Given the description of an element on the screen output the (x, y) to click on. 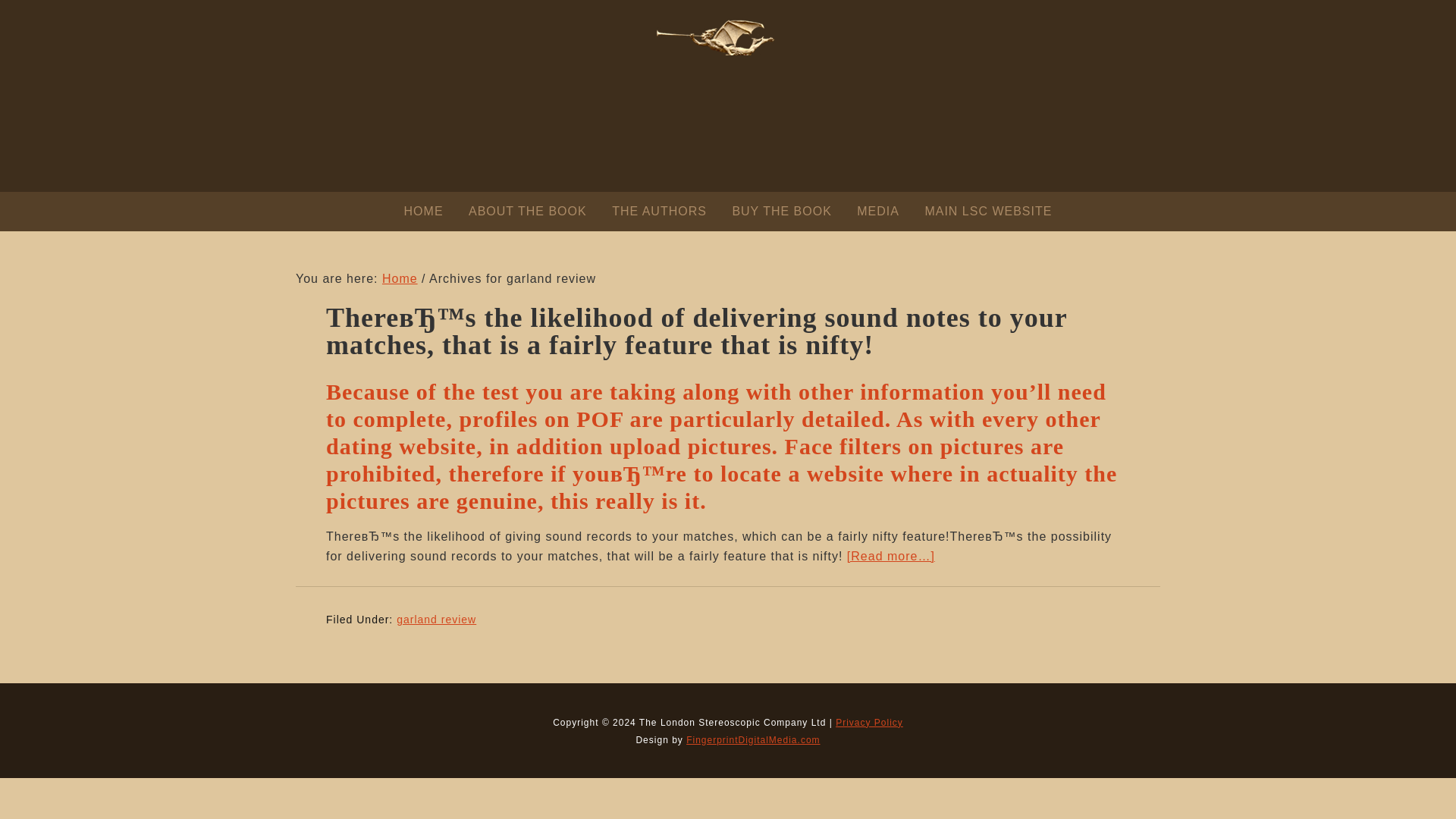
MEDIA (877, 210)
BUY THE BOOK (780, 210)
MAIN LSC WEBSITE (988, 210)
FingerprintDigitalMedia.com (752, 738)
ABOUT THE BOOK (527, 210)
Privacy Policy (868, 722)
Home (399, 278)
garland review (436, 619)
THE AUTHORS (659, 210)
HOME (423, 210)
